Given the description of an element on the screen output the (x, y) to click on. 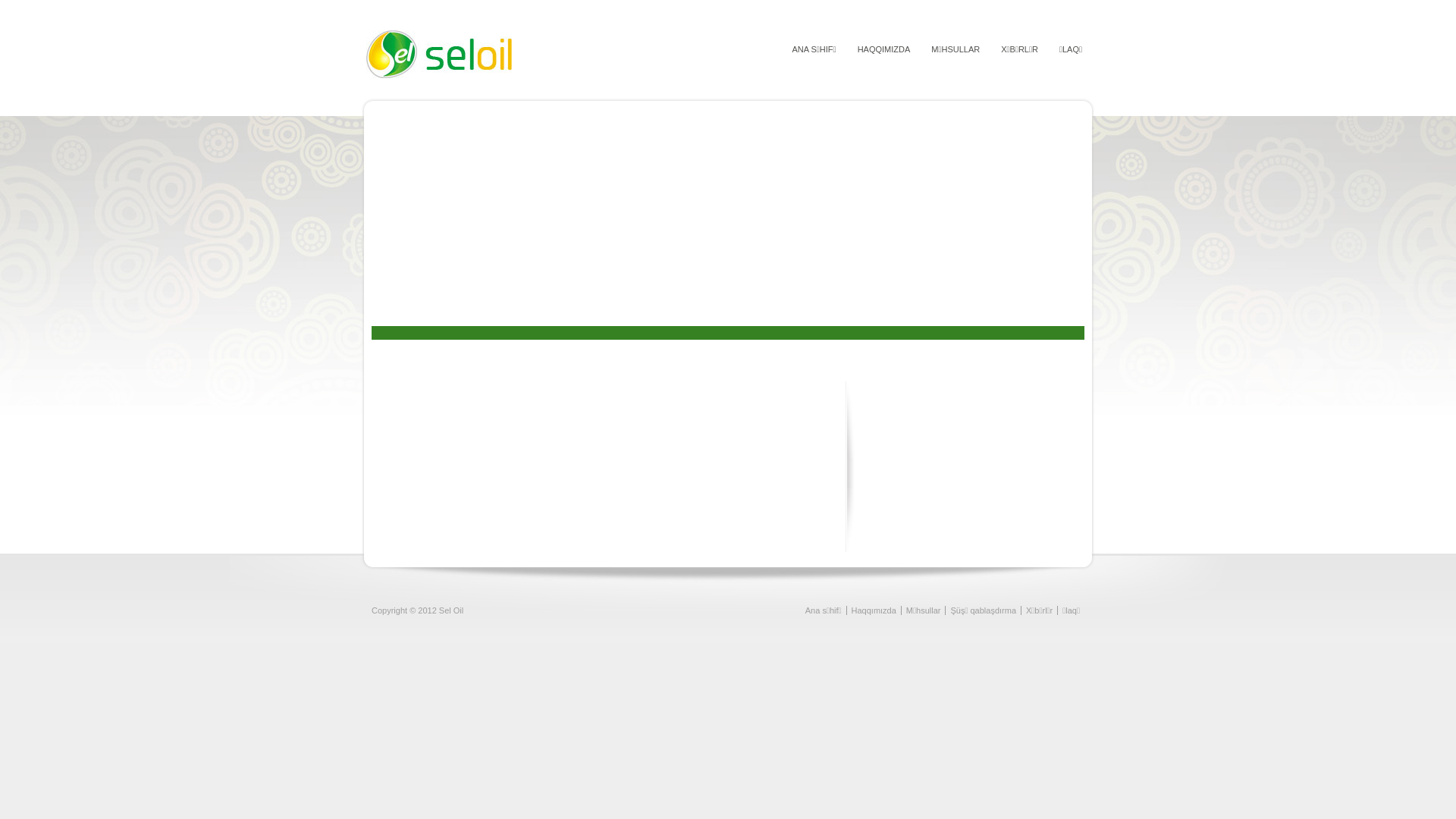
sel oil Element type: hover (506, 74)
HAQQIMIZDA Element type: text (879, 50)
